Given the description of an element on the screen output the (x, y) to click on. 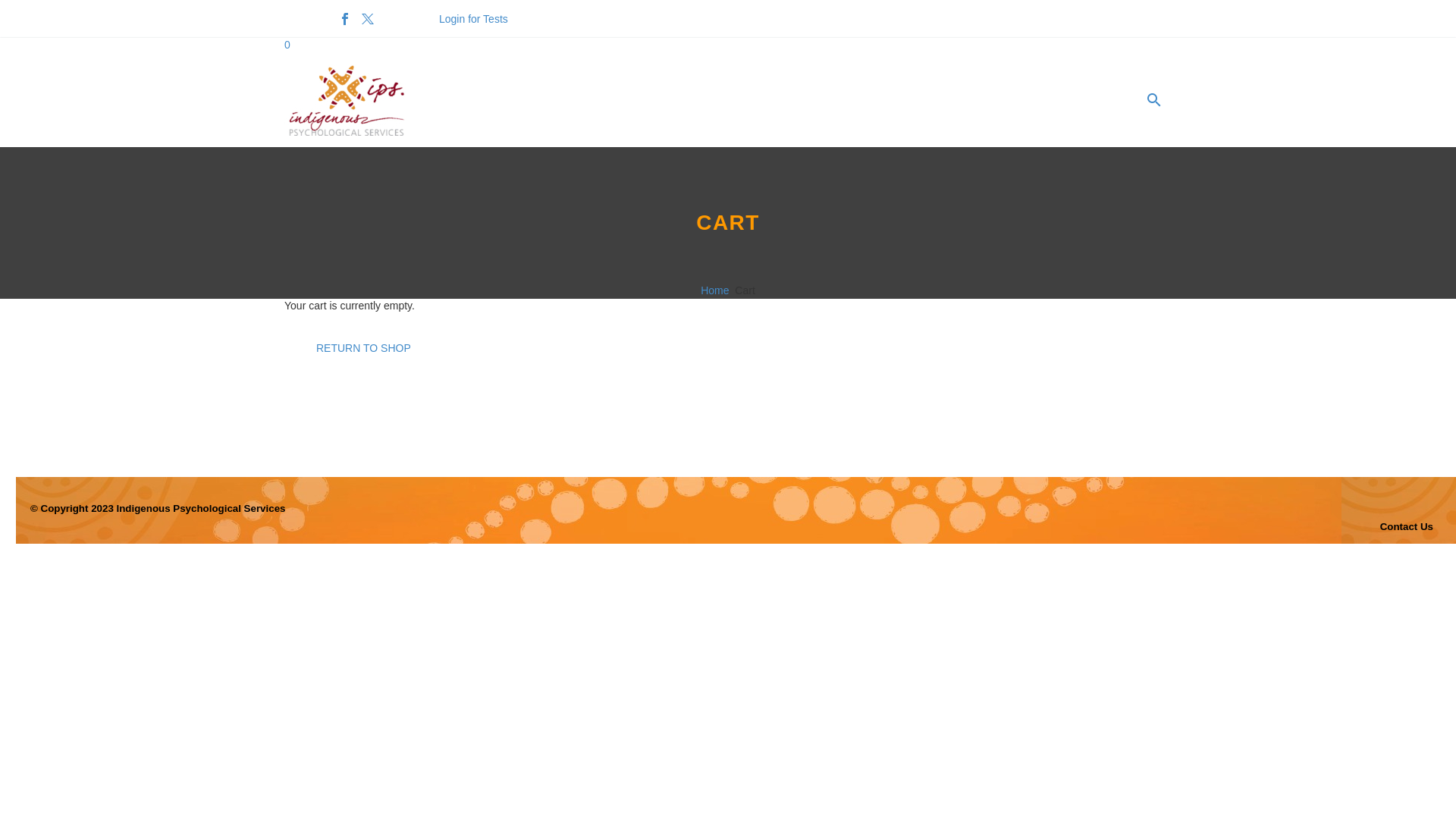
Facebook Element type: hover (344, 18)
RETURN TO SHOP Element type: text (363, 347)
Twitter Element type: hover (367, 18)
0 Element type: text (287, 44)
Contact Us Element type: text (1406, 526)
Login for Tests Element type: text (473, 18)
Home Element type: text (714, 290)
